Given the description of an element on the screen output the (x, y) to click on. 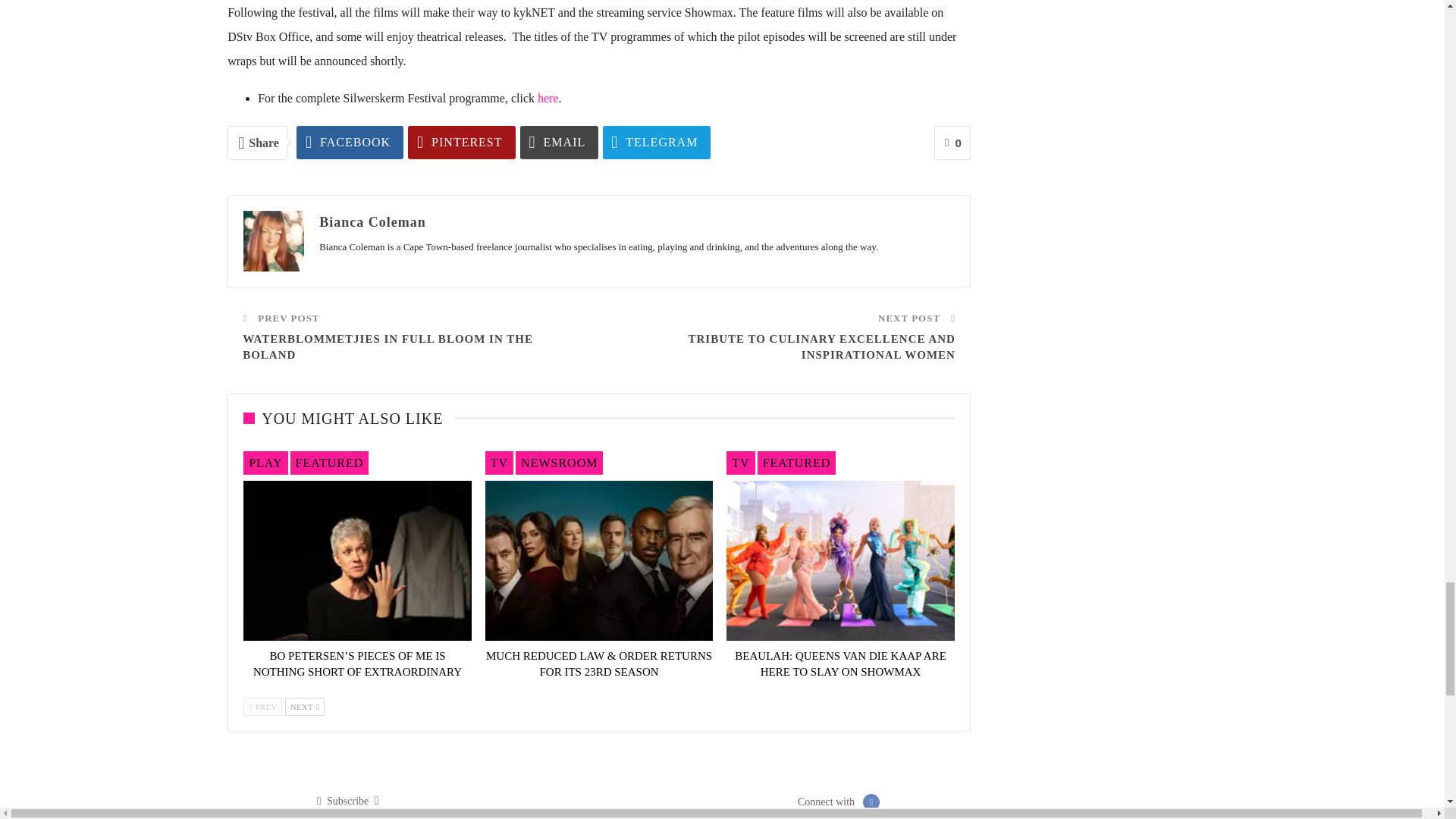
NEWSROOM (558, 463)
0 (952, 142)
FACEBOOK (350, 142)
Beaulah: Queens van die Kaap are here to slay on Showmax (840, 559)
Bianca Coleman (372, 222)
Next (304, 706)
here (548, 97)
Beaulah: Queens van die Kaap are here to slay on Showmax (839, 664)
TELEGRAM (656, 142)
TRIBUTE TO CULINARY EXCELLENCE AND INSPIRATIONAL WOMEN (821, 346)
Previous (262, 706)
PINTEREST (461, 142)
FEATURED (328, 463)
EMAIL (558, 142)
PLAY (264, 463)
